Given the description of an element on the screen output the (x, y) to click on. 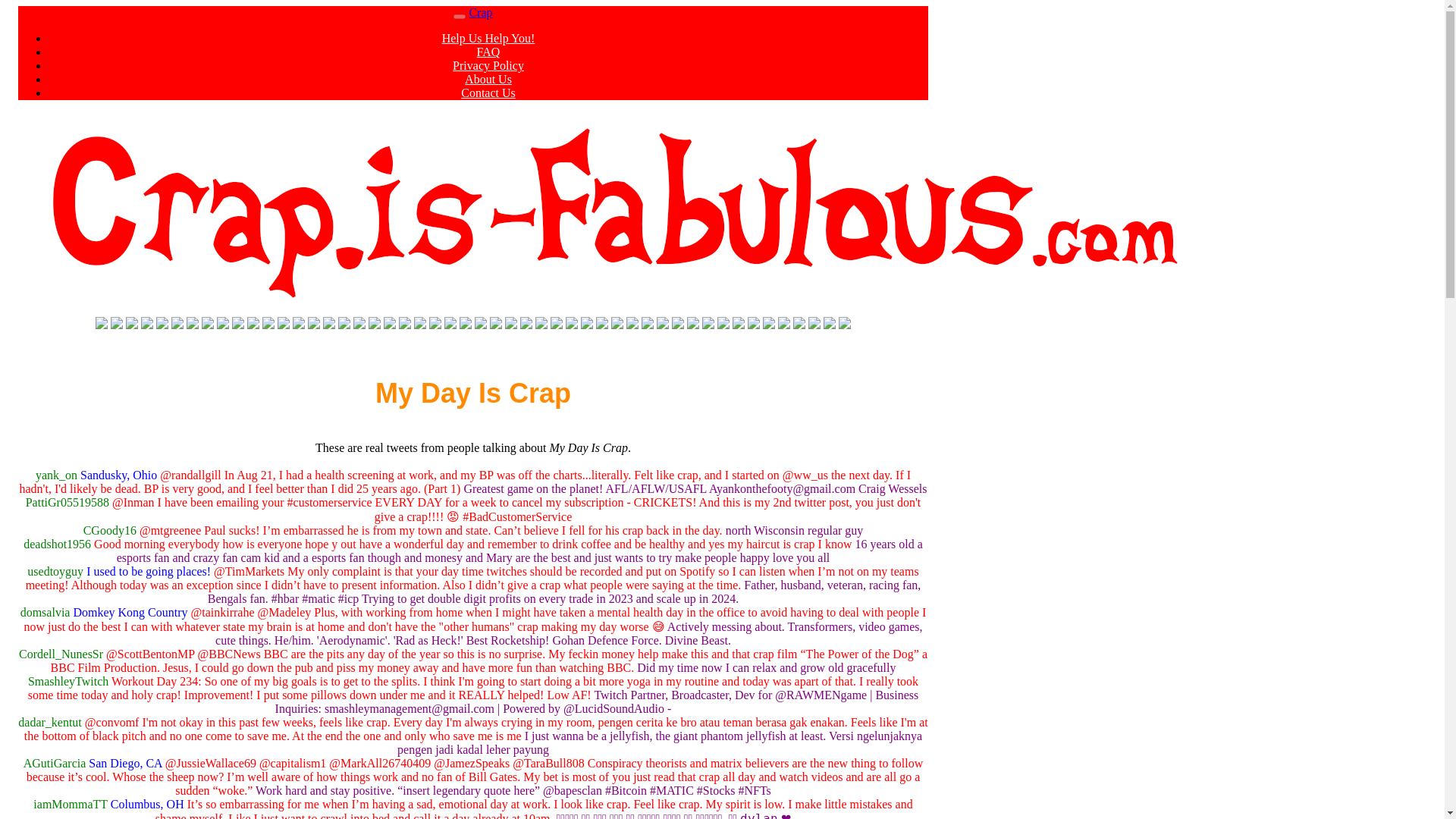
Help Us Help You! (488, 38)
Donate (488, 38)
Crap (480, 11)
Contact Us (488, 92)
Privacy Policy (488, 65)
About Us (488, 78)
FAQ (488, 51)
Questions, comments, complaints? Let us know. (488, 92)
Frequently asked Questions (488, 51)
What information do we collect and what do we do with it. (488, 65)
Who are we? Where are we? (488, 78)
